Given the description of an element on the screen output the (x, y) to click on. 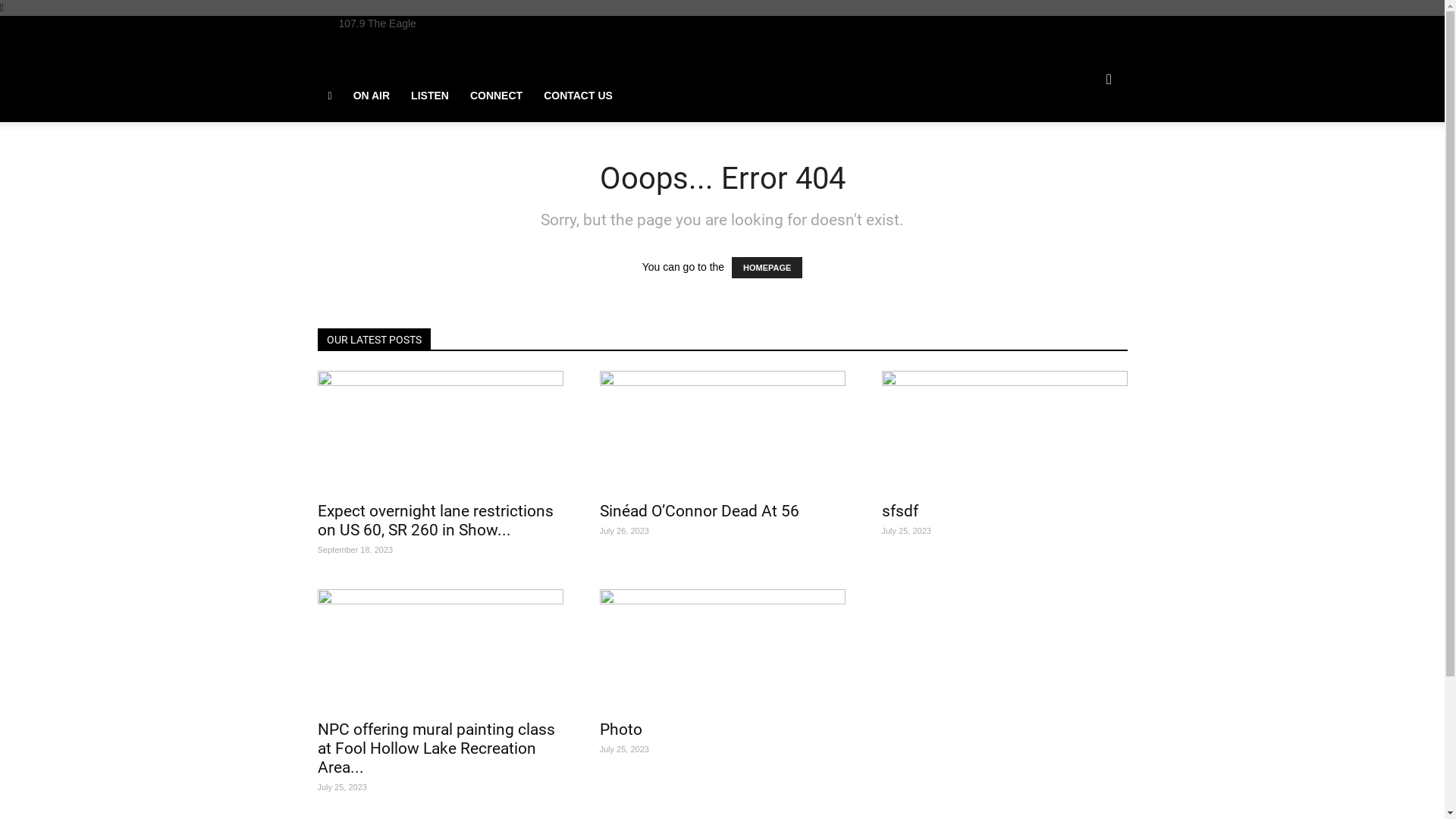
HOMEPAGE Element type: text (766, 267)
Photo Element type: hover (721, 649)
LISTEN Element type: text (429, 95)
ON AIR Element type: text (371, 95)
sfsdf Element type: text (899, 511)
107.9 The Eagle Element type: text (375, 23)
Photo Element type: text (620, 729)
CONNECT Element type: text (496, 95)
Search Element type: text (1085, 148)
CONTACT US Element type: text (578, 95)
sfsdf Element type: hover (1003, 431)
